Given the description of an element on the screen output the (x, y) to click on. 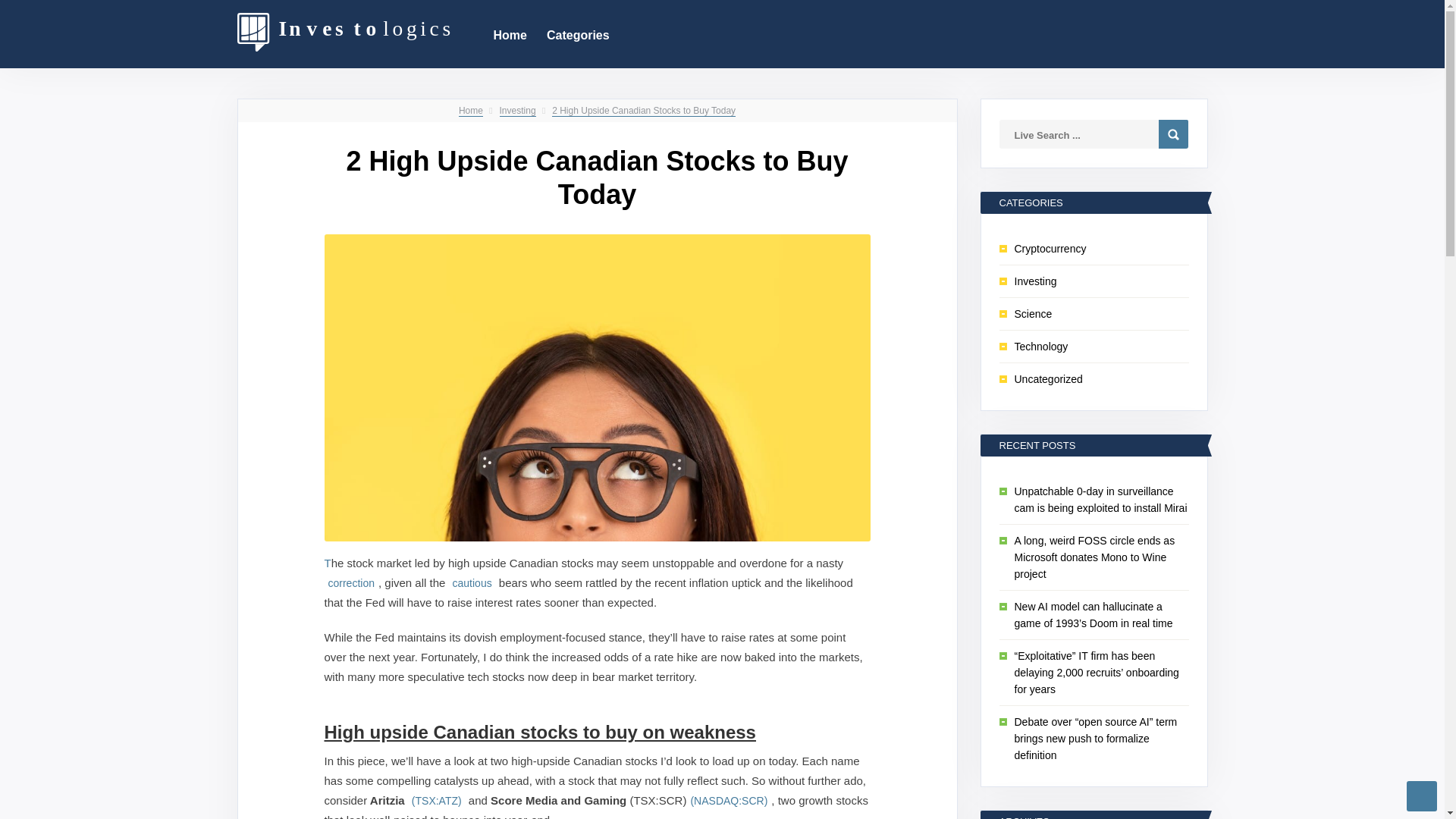
cautious (472, 582)
correction (351, 582)
Search (1173, 133)
Search (1173, 133)
View all posts in Investing (517, 111)
Home (509, 33)
Categories (577, 33)
Home (470, 111)
Investing (517, 111)
2 High Upside Canadian Stocks to Buy Today (643, 111)
